Given the description of an element on the screen output the (x, y) to click on. 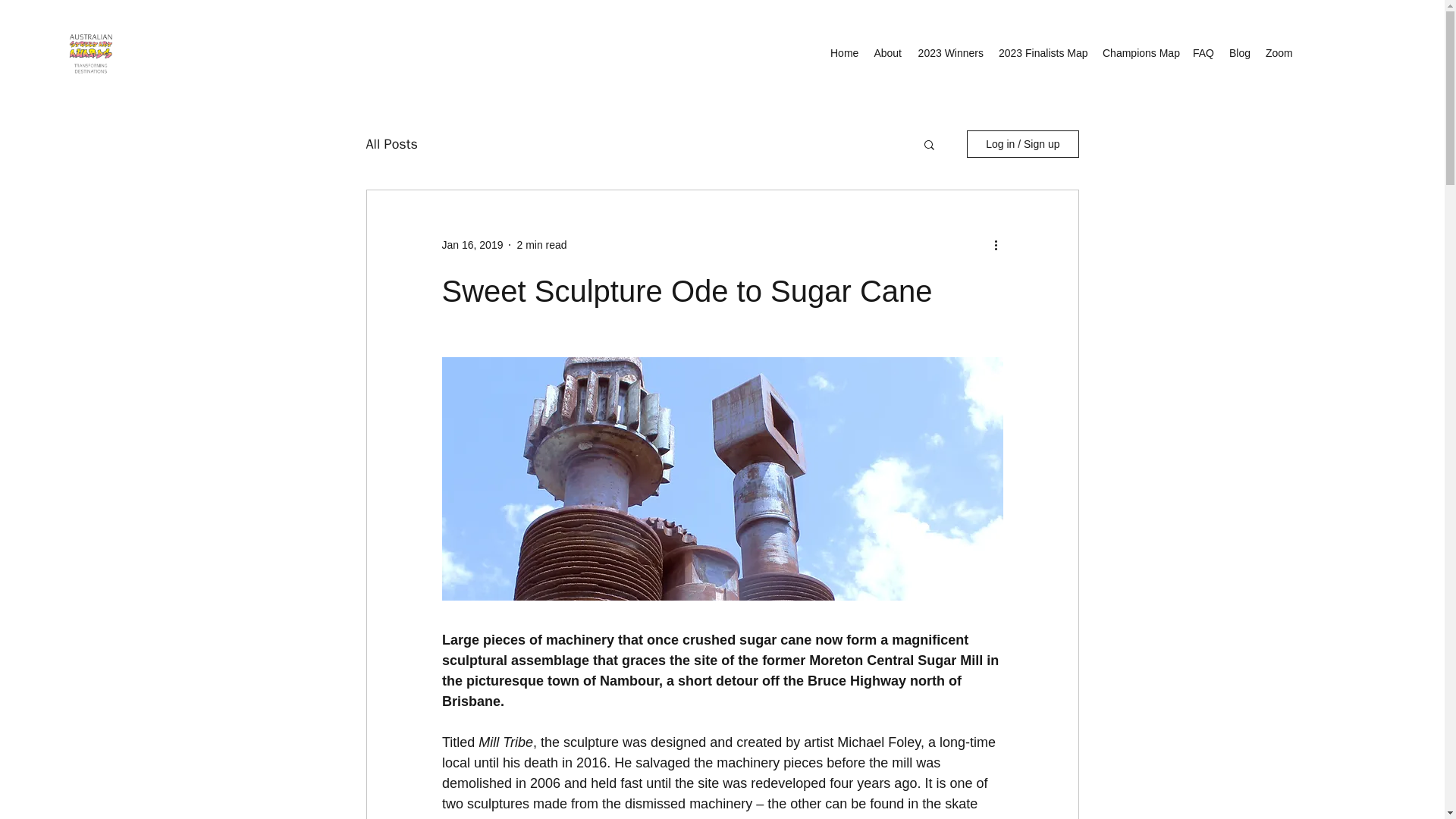
Zoom (1278, 52)
Jan 16, 2019 (471, 244)
Champions Map (1139, 52)
Home (844, 52)
Blog (1239, 52)
About (887, 52)
All Posts (390, 144)
2023 Finalists Map (1042, 52)
FAQ (1203, 52)
2023 Winners (949, 52)
